Given the description of an element on the screen output the (x, y) to click on. 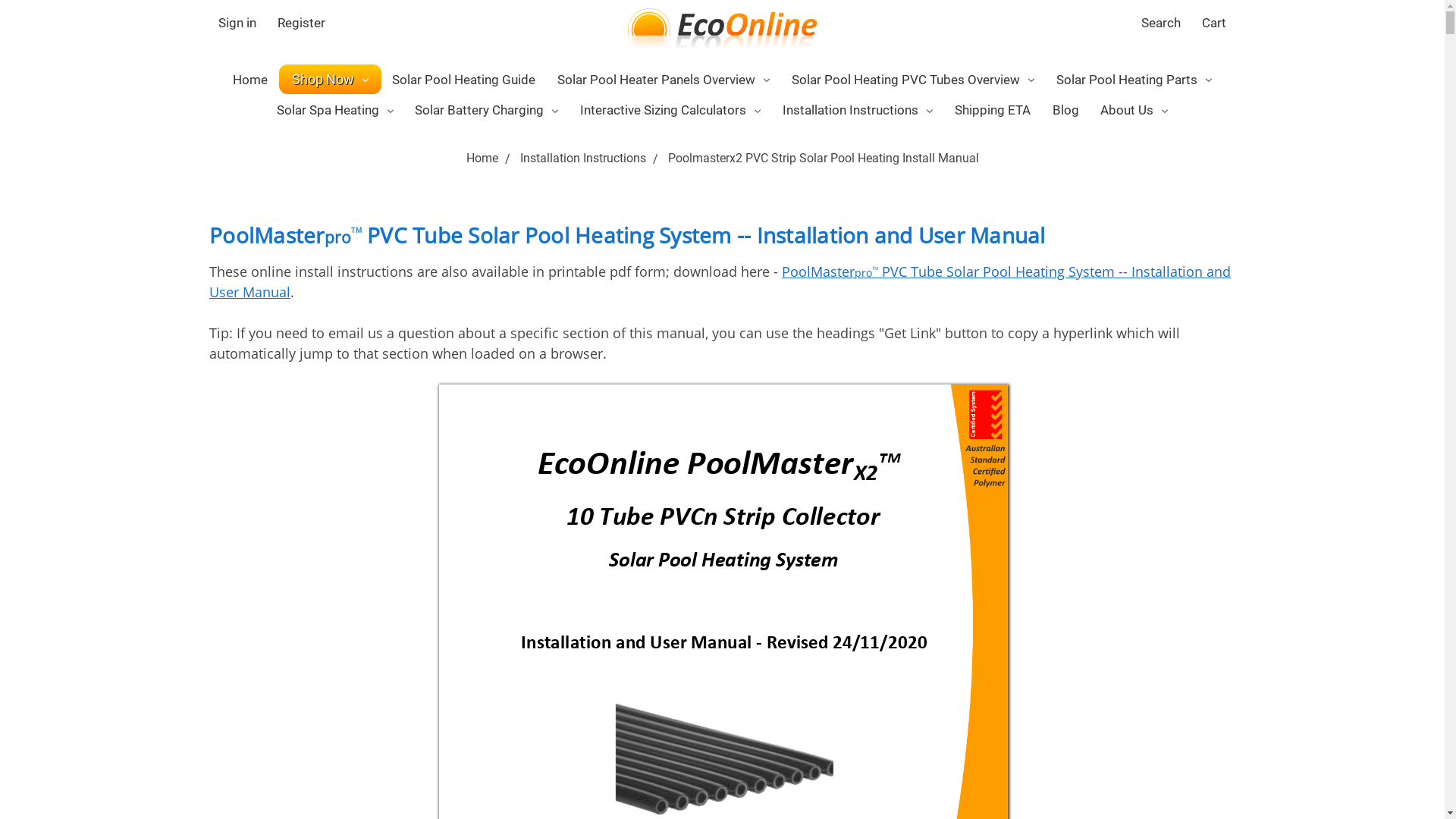
Solar Pool Heater Panels Overview Element type: text (663, 80)
Home Element type: text (481, 157)
About Us Element type: text (1134, 110)
Home Element type: text (250, 80)
Interactive Sizing Calculators Element type: text (670, 110)
Solar Pool Heating PVC Tubes Overview Element type: text (912, 80)
Cart Element type: text (1213, 23)
Shipping ETA Element type: text (992, 110)
Sign in Element type: text (236, 23)
Solar Battery Charging Element type: text (486, 110)
Solar Spa Heating Element type: text (334, 110)
Installation Instructions Element type: text (857, 110)
Search Element type: text (1160, 23)
Installation Instructions Element type: text (583, 157)
Solar Pool Heaters Element type: hover (722, 29)
Solar Pool Heating Parts Element type: text (1133, 80)
Shop Now Element type: text (330, 78)
Blog Element type: text (1065, 110)
Register Element type: text (300, 23)
Solar Pool Heating Guide Element type: text (463, 80)
